Given the description of an element on the screen output the (x, y) to click on. 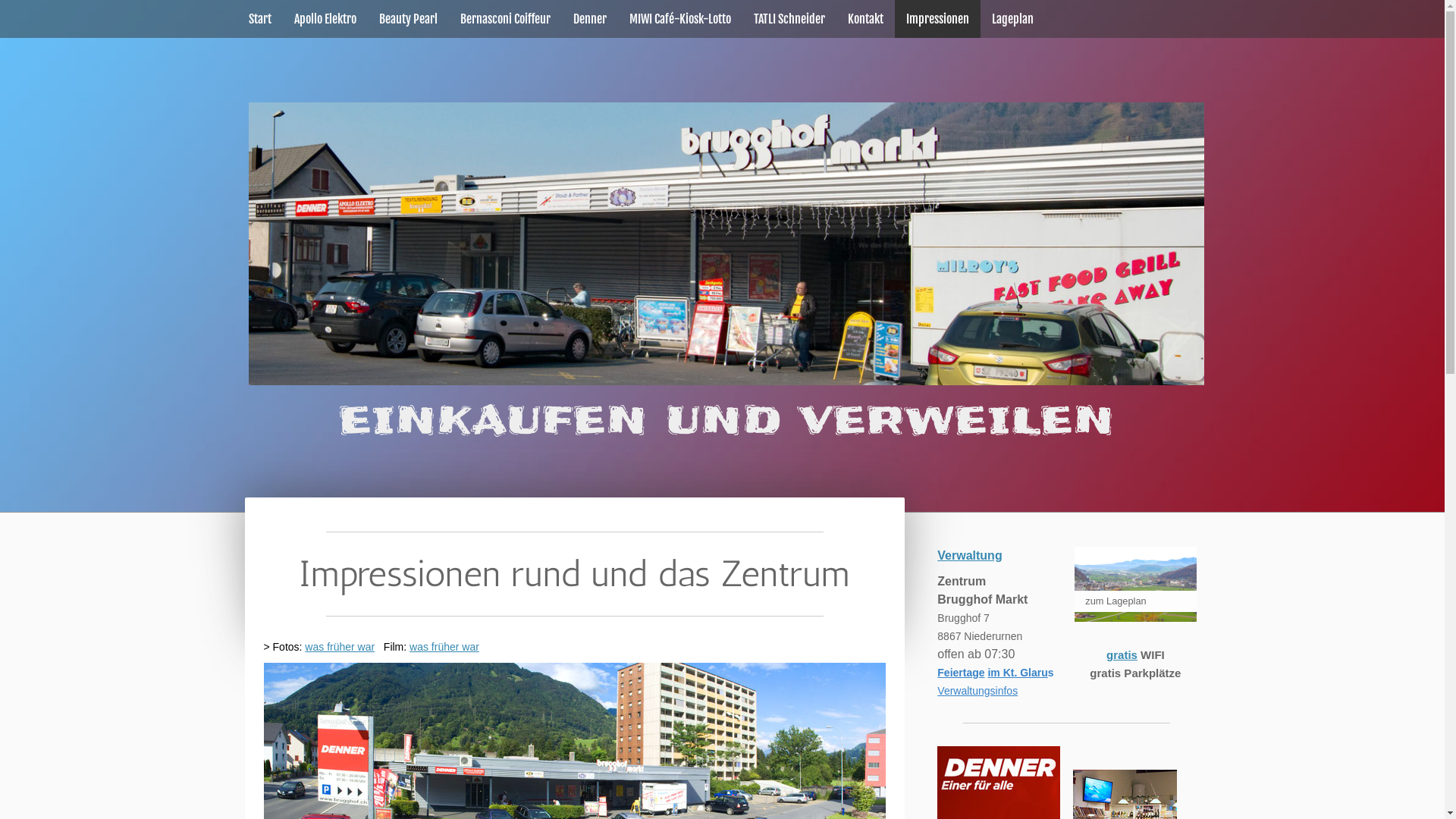
EINKAUFEN UND VERWEILEN Element type: text (726, 419)
im Kt. Glaru Element type: text (1017, 672)
Apollo Elektro Element type: text (324, 18)
Verwaltung Element type: text (969, 555)
TATLI Schneider Element type: text (788, 18)
Lageplan Element type: text (1011, 18)
Impressionen Element type: text (937, 18)
Start Element type: text (259, 18)
Bernasconi Coiffeur Element type: text (504, 18)
Verwaltungsinfos Element type: text (977, 690)
Feiertage Element type: text (960, 672)
Denner Element type: text (589, 18)
Beauty Pearl Element type: text (407, 18)
gratis Element type: text (1121, 654)
Kontakt Element type: text (864, 18)
